Given the description of an element on the screen output the (x, y) to click on. 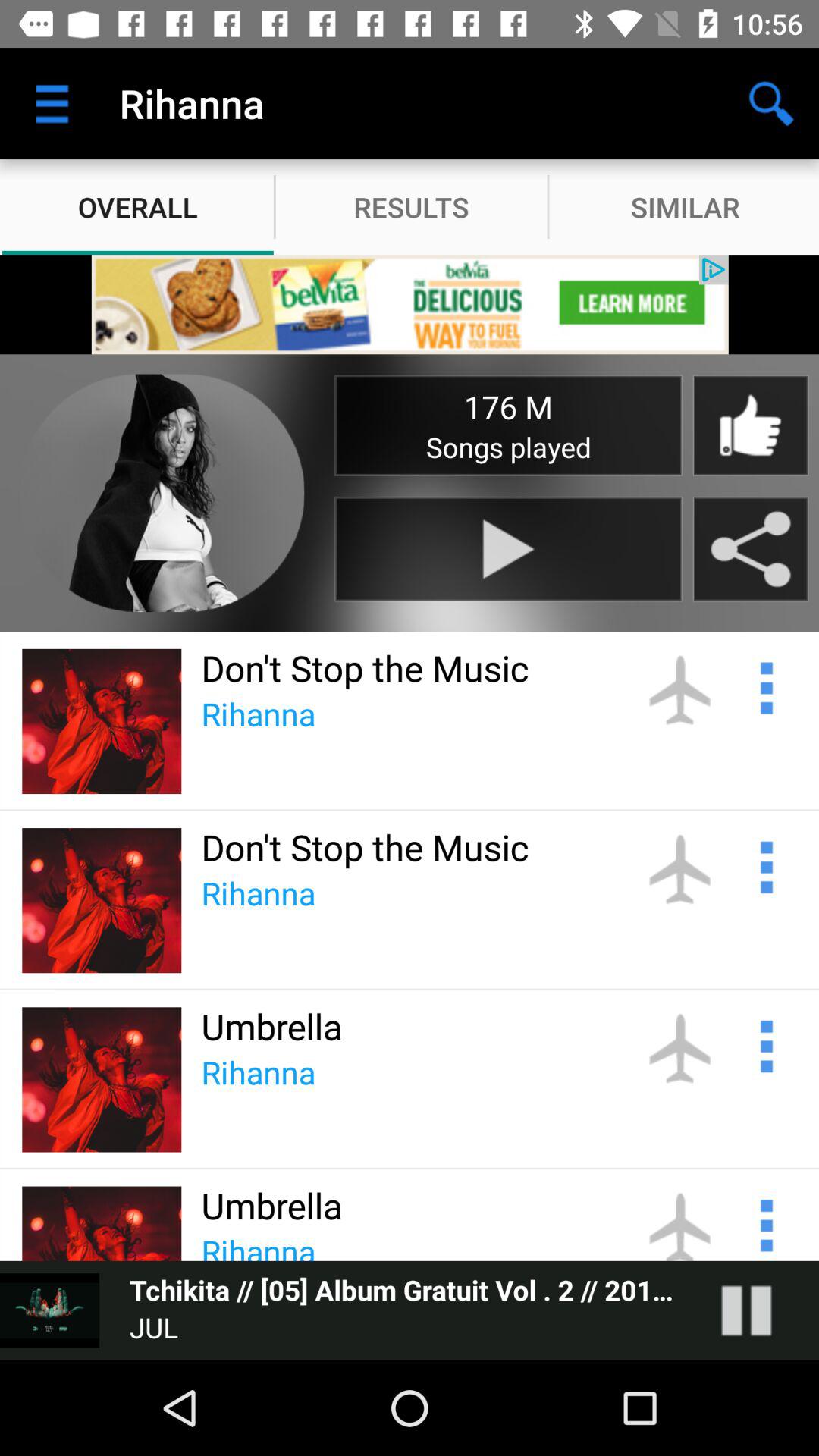
like the item (750, 424)
